Given the description of an element on the screen output the (x, y) to click on. 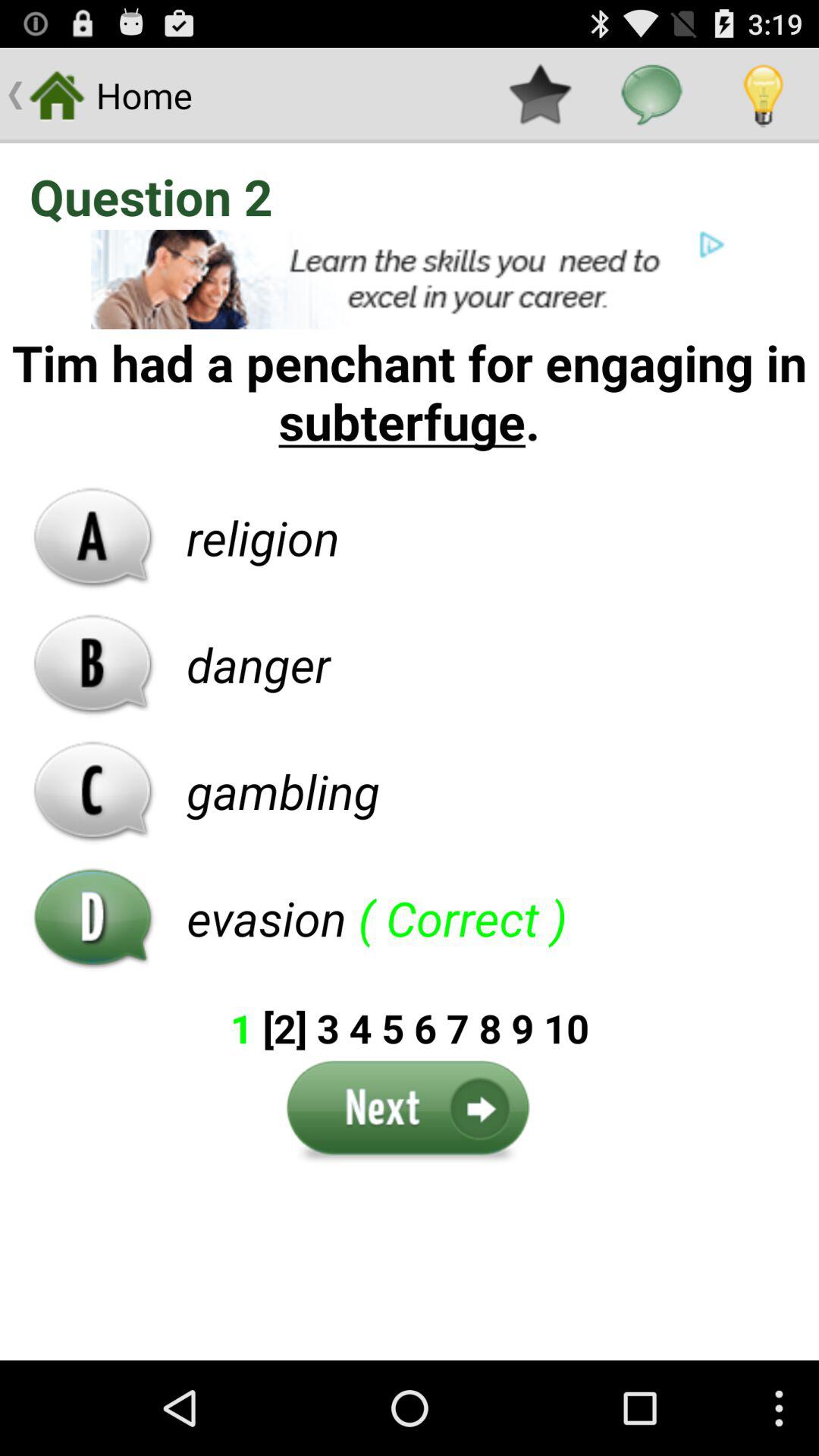
select app next to the home app (540, 95)
